Given the description of an element on the screen output the (x, y) to click on. 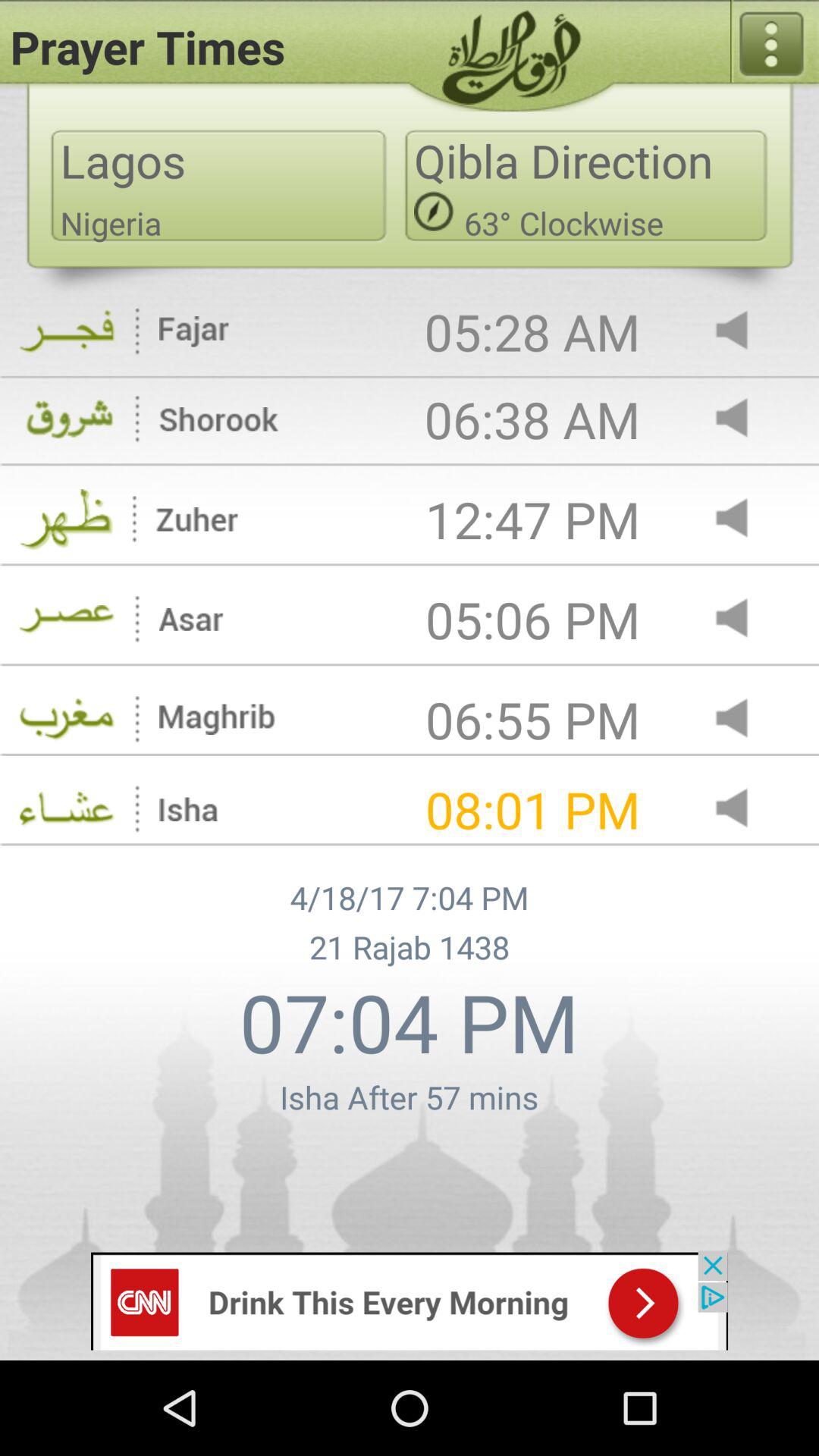
toggle sound (744, 619)
